Given the description of an element on the screen output the (x, y) to click on. 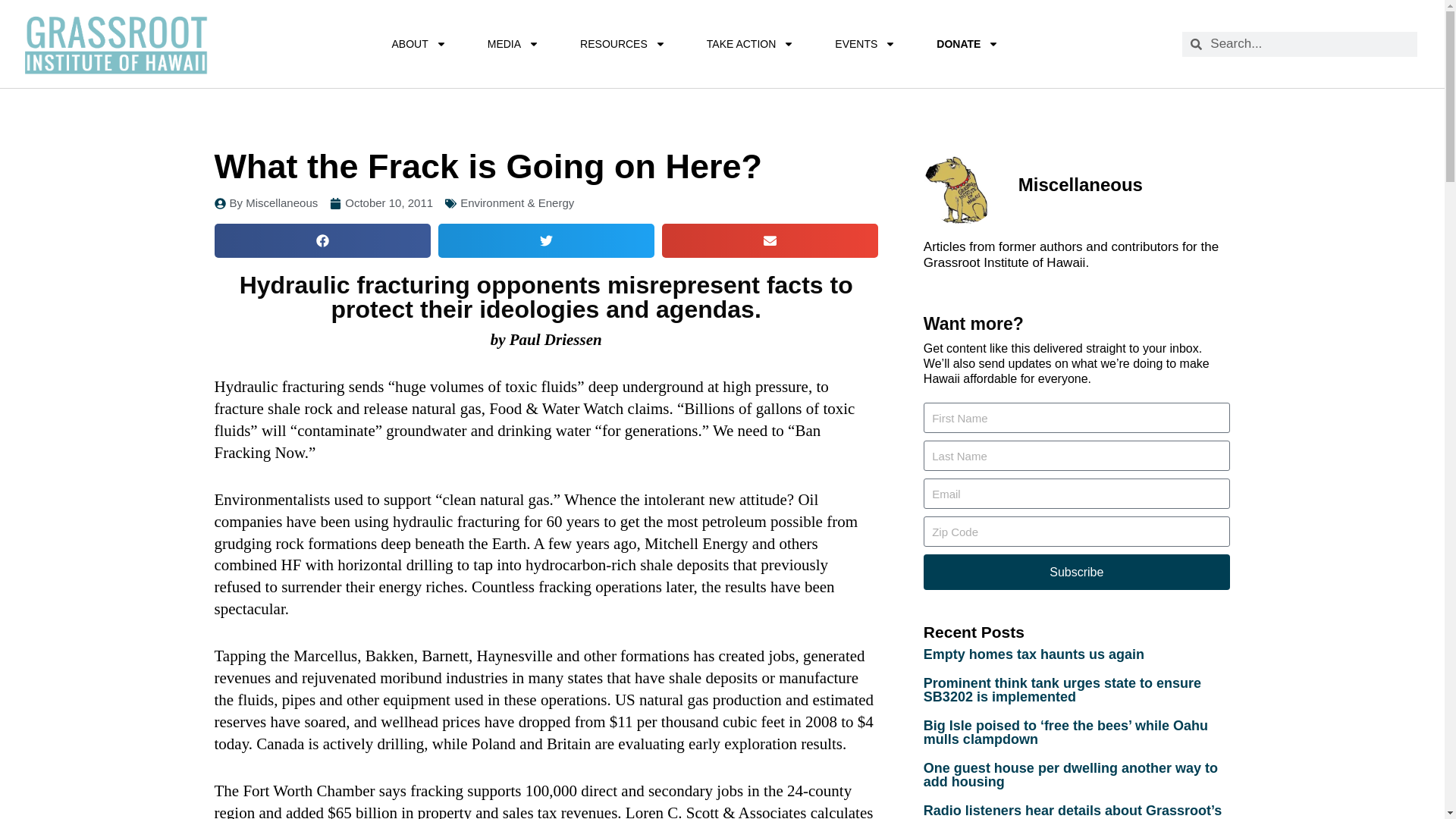
EVENTS (864, 43)
ABOUT (419, 43)
RESOURCES (622, 43)
TAKE ACTION (750, 43)
MEDIA (513, 43)
DONATE (967, 43)
